Given the description of an element on the screen output the (x, y) to click on. 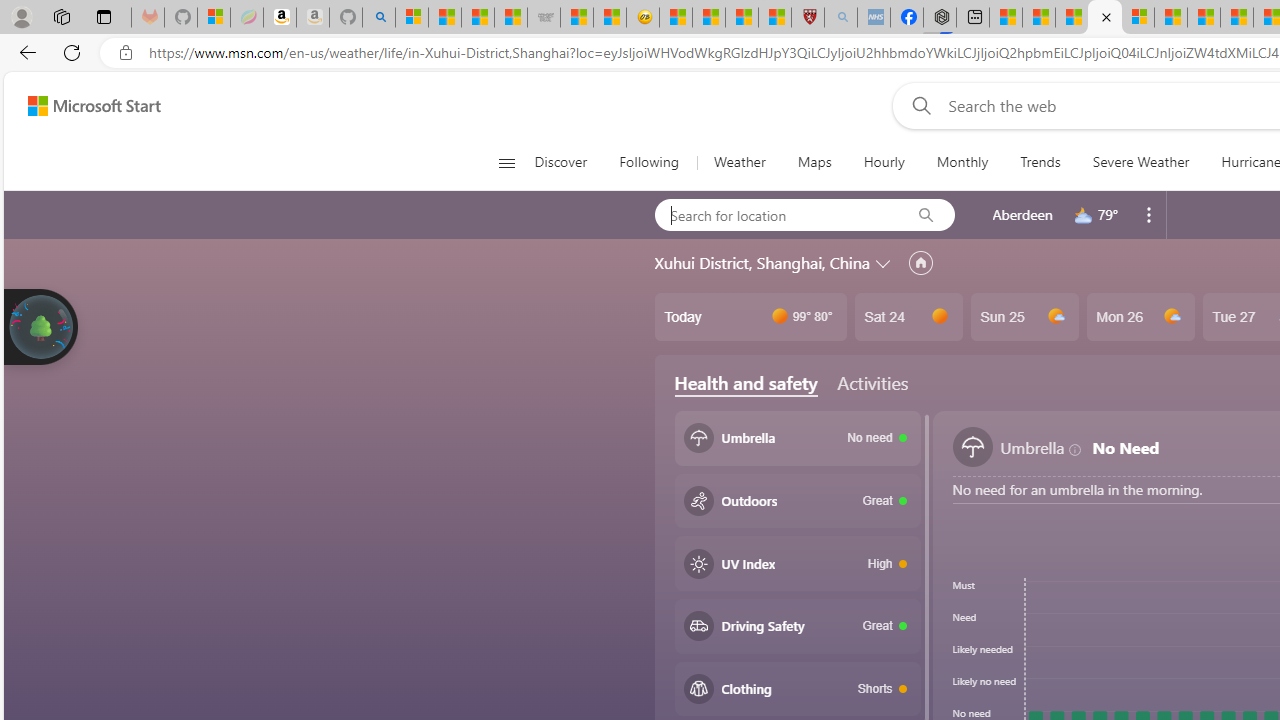
Set as primary location (920, 263)
Driving safety Great (797, 625)
Clothing Shorts (797, 688)
Severe Weather (1140, 162)
Trends (1039, 162)
